Given the description of an element on the screen output the (x, y) to click on. 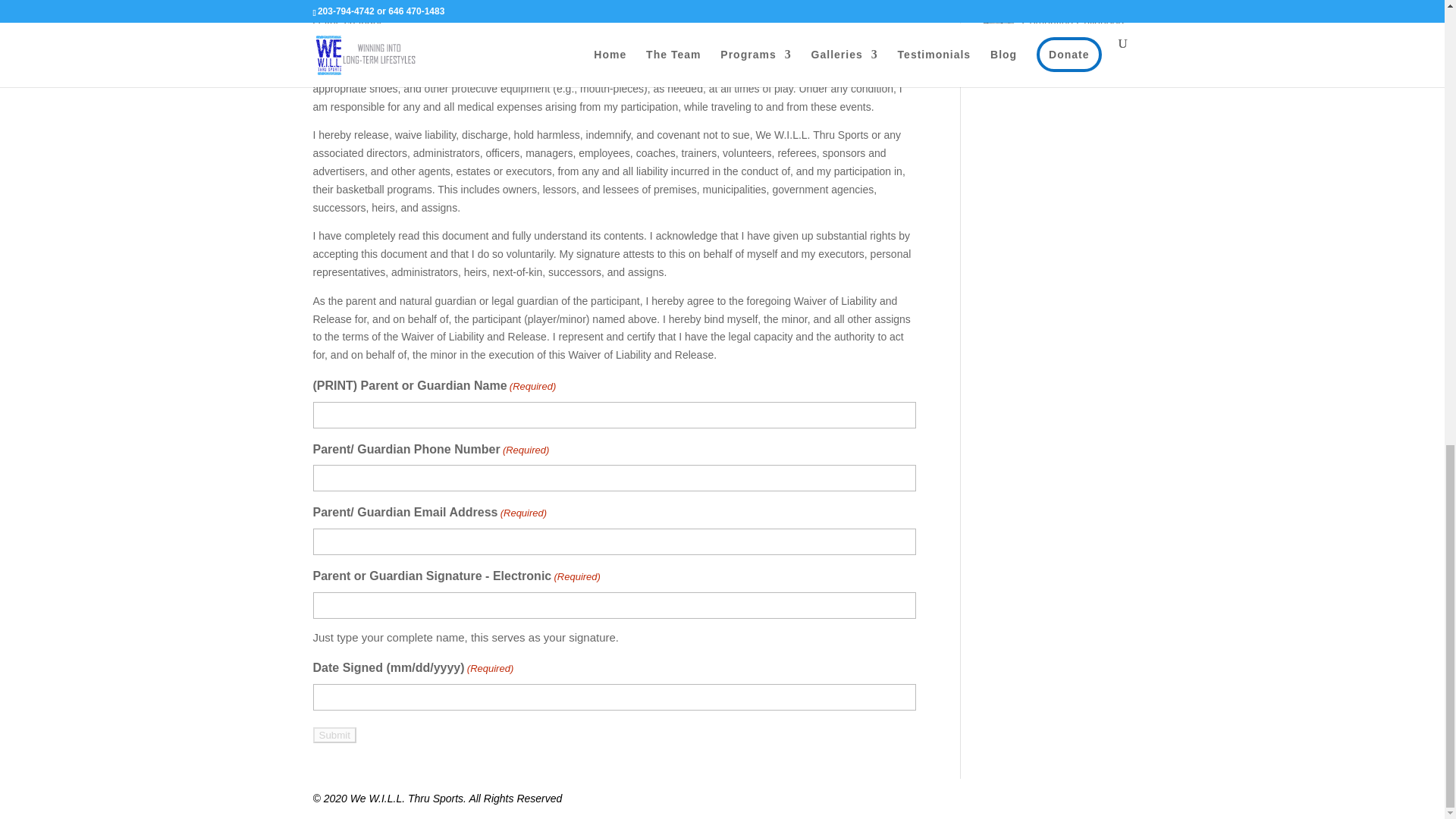
Submit (334, 734)
